Given the description of an element on the screen output the (x, y) to click on. 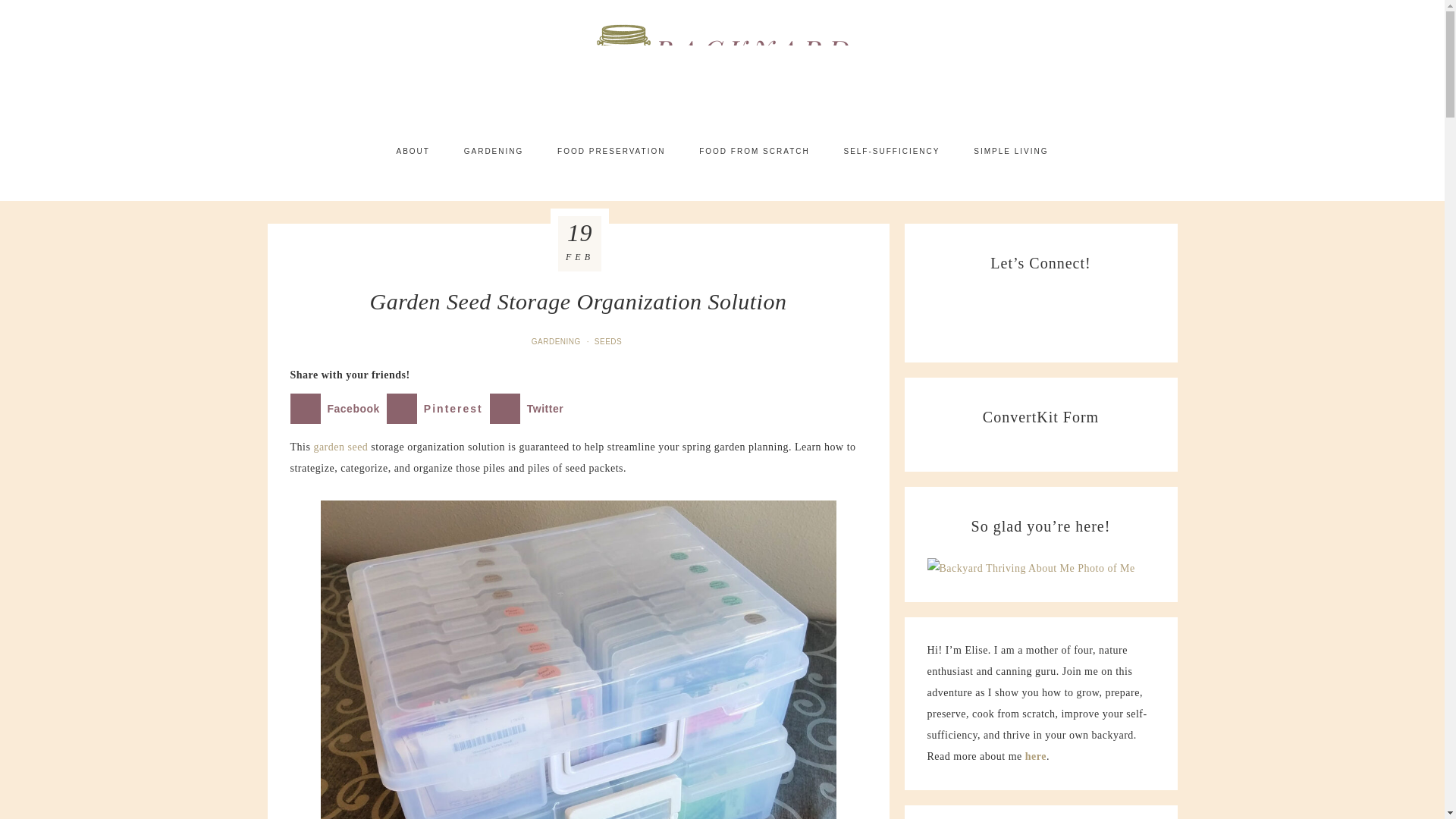
SEEDS (609, 341)
Save to Pinterest (438, 408)
Share on Facebook (337, 408)
GARDENING (493, 151)
Facebook (337, 408)
garden seed (340, 446)
FOOD PRESERVATION (610, 151)
SELF-SUFFICIENCY (891, 151)
GARDENING (557, 341)
Pinterest (438, 408)
